Given the description of an element on the screen output the (x, y) to click on. 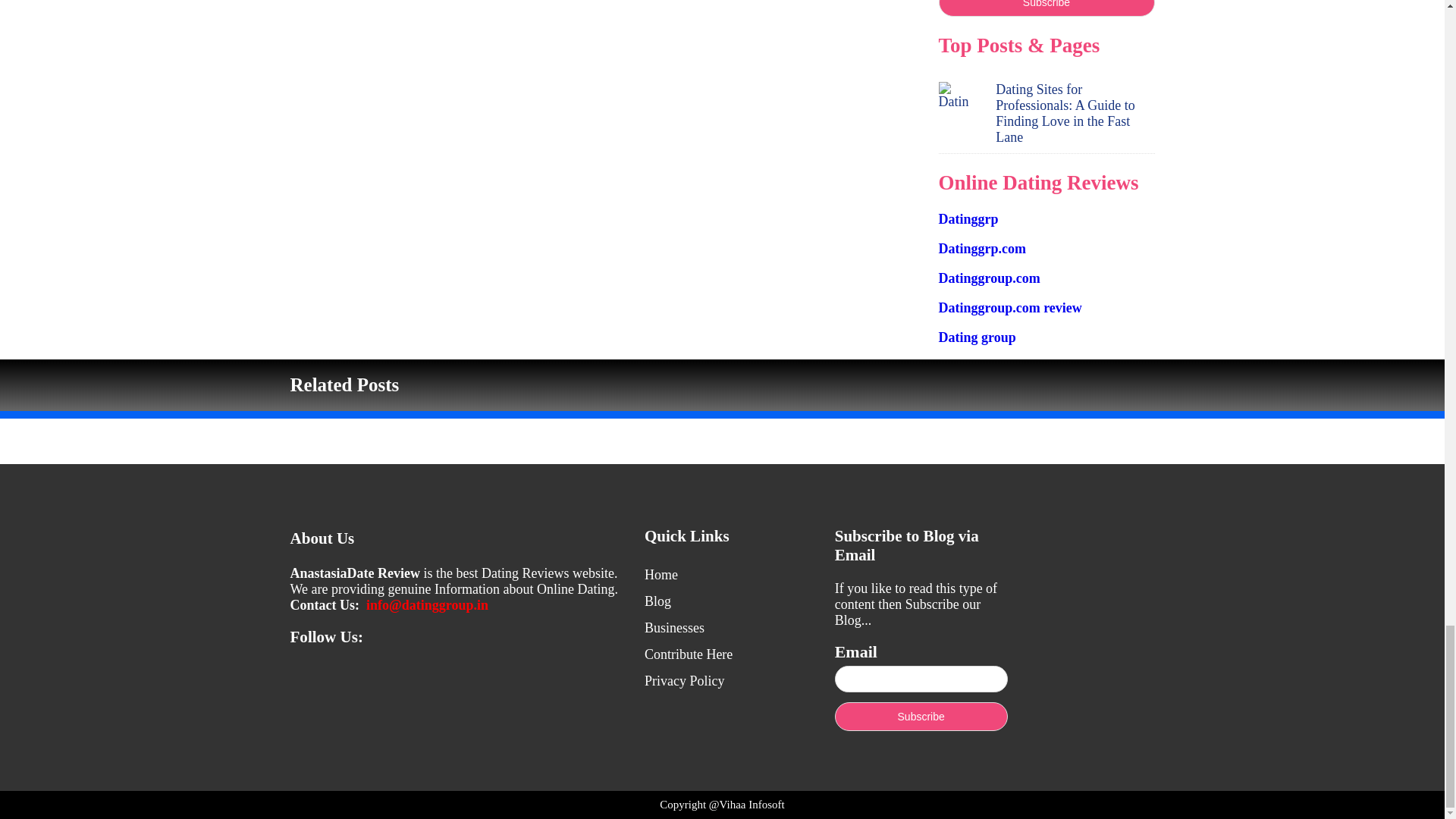
Subscribe (1046, 8)
Subscribe (920, 716)
